Given the description of an element on the screen output the (x, y) to click on. 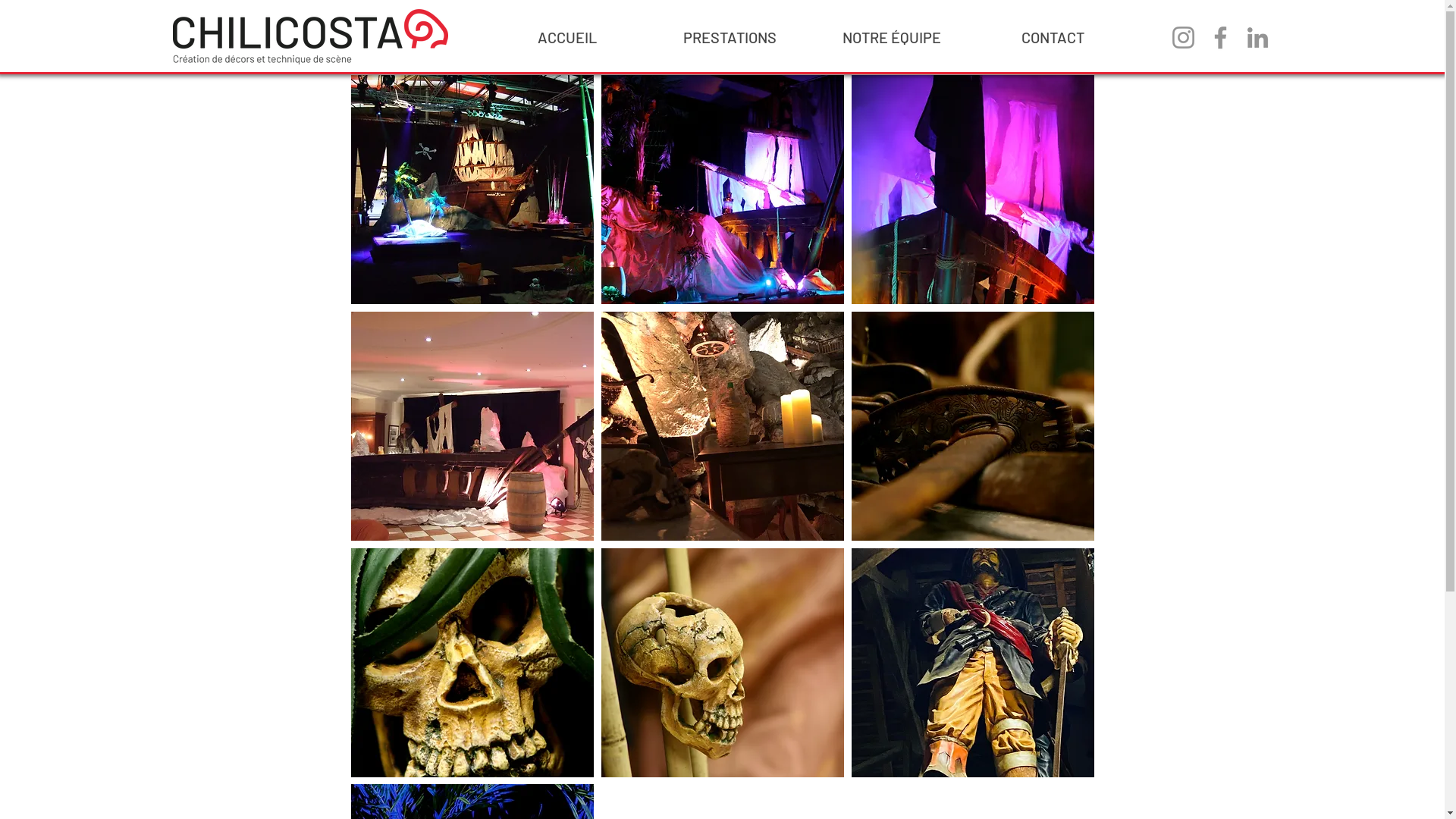
PRESTATIONS Element type: text (728, 36)
ACCUEIL Element type: text (566, 36)
CONTACT Element type: text (1052, 36)
